Given the description of an element on the screen output the (x, y) to click on. 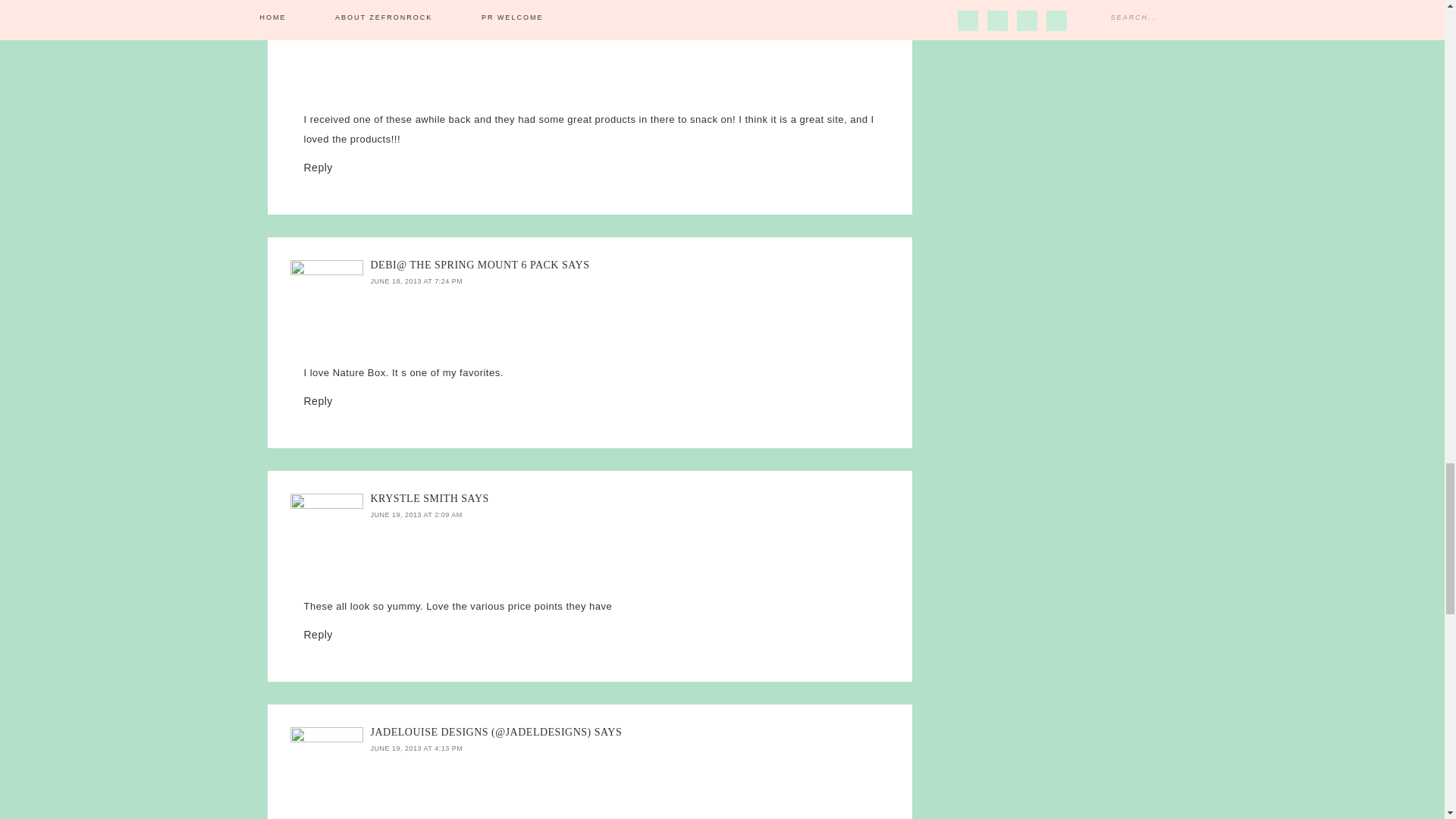
JUNE 18, 2013 AT 3:59 PM (416, 27)
Reply (316, 400)
KELSEYAPLEY (407, 11)
Reply (316, 634)
Reply (316, 167)
JUNE 18, 2013 AT 7:24 PM (416, 281)
JUNE 19, 2013 AT 4:13 PM (416, 748)
KRYSTLE SMITH (413, 498)
JUNE 19, 2013 AT 2:09 AM (415, 514)
